Given the description of an element on the screen output the (x, y) to click on. 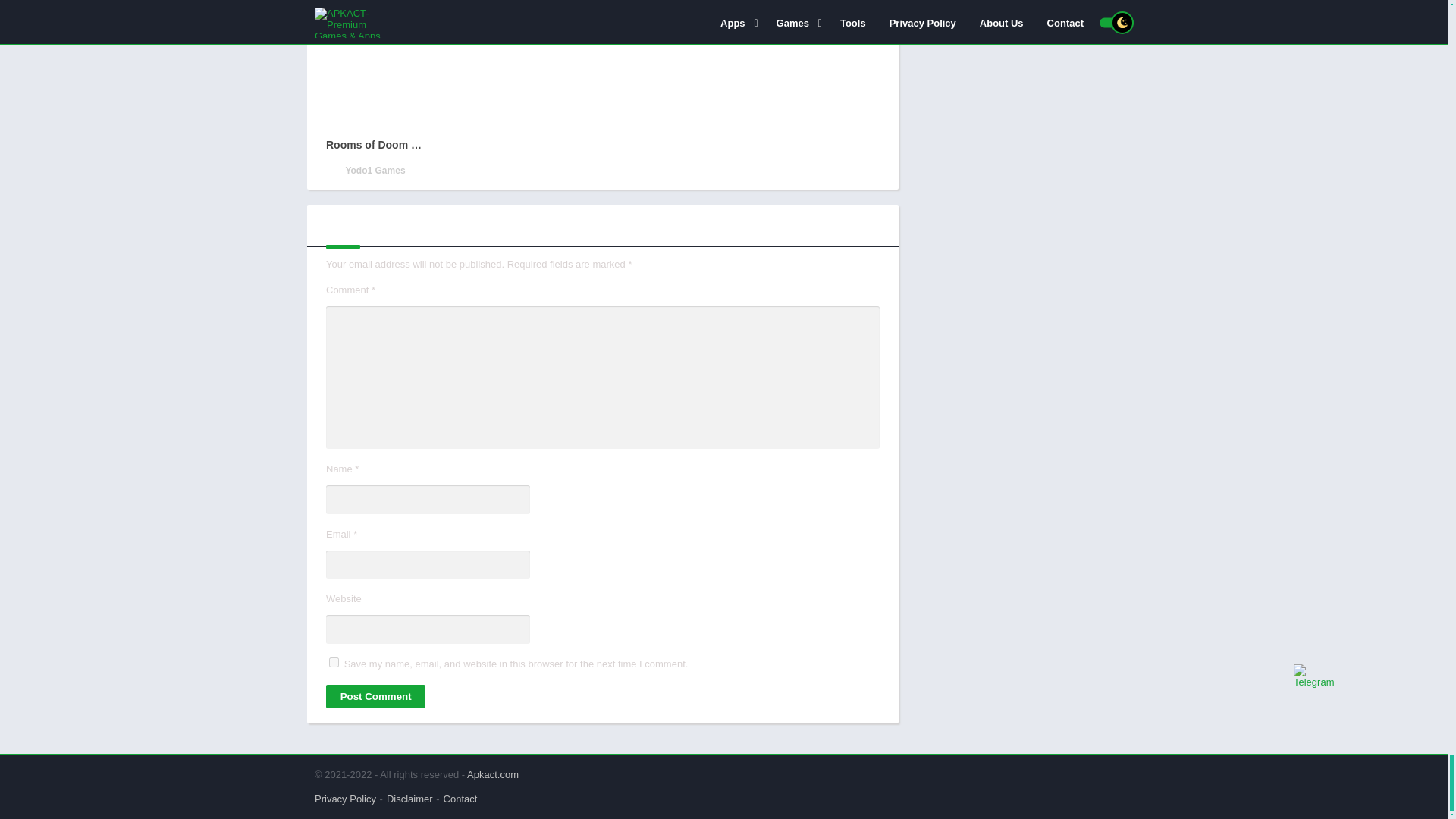
yes (334, 662)
Post Comment (375, 696)
